Given the description of an element on the screen output the (x, y) to click on. 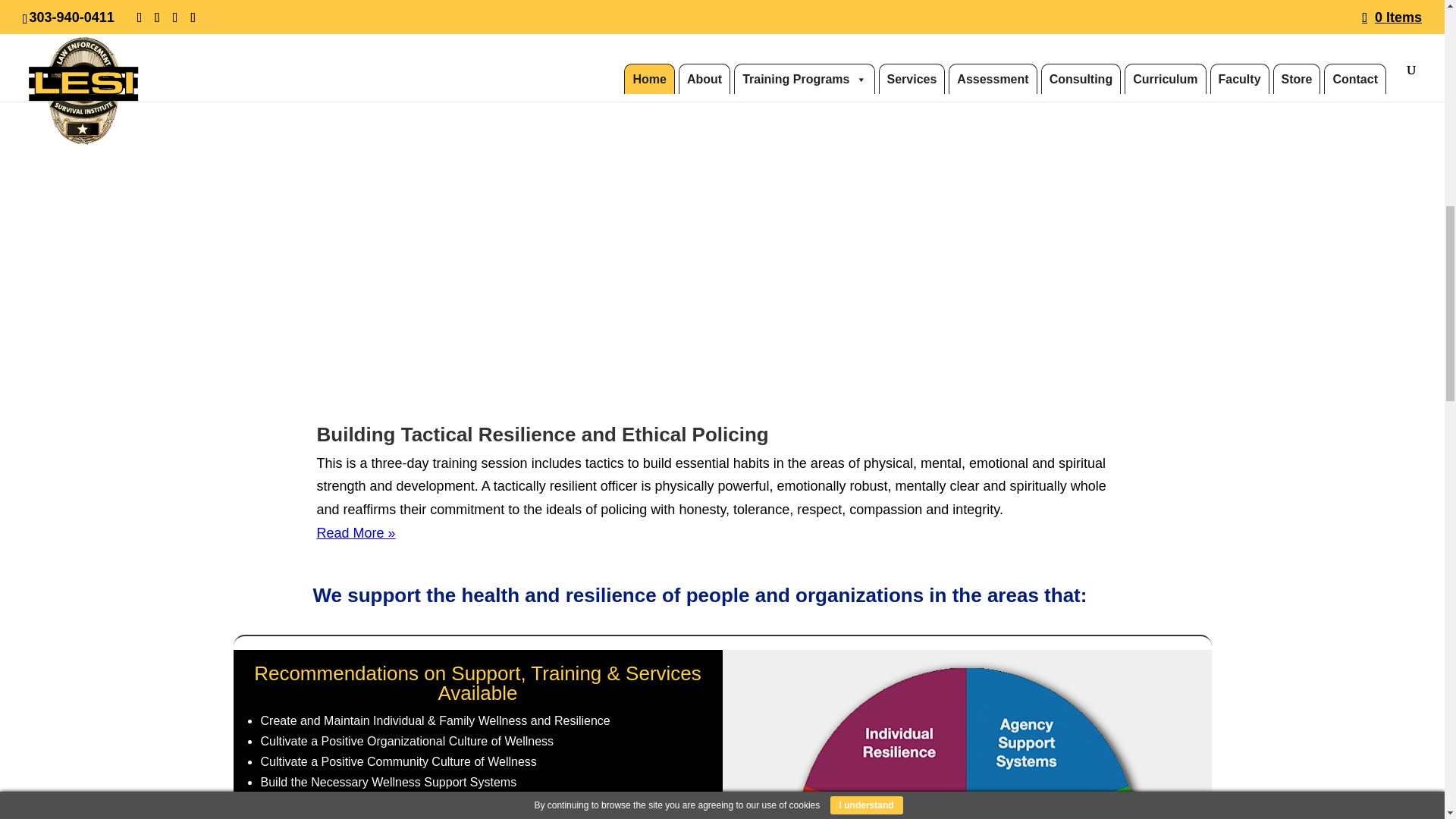
Building Tactical Resilience and Ethical Policing (542, 434)
